Given the description of an element on the screen output the (x, y) to click on. 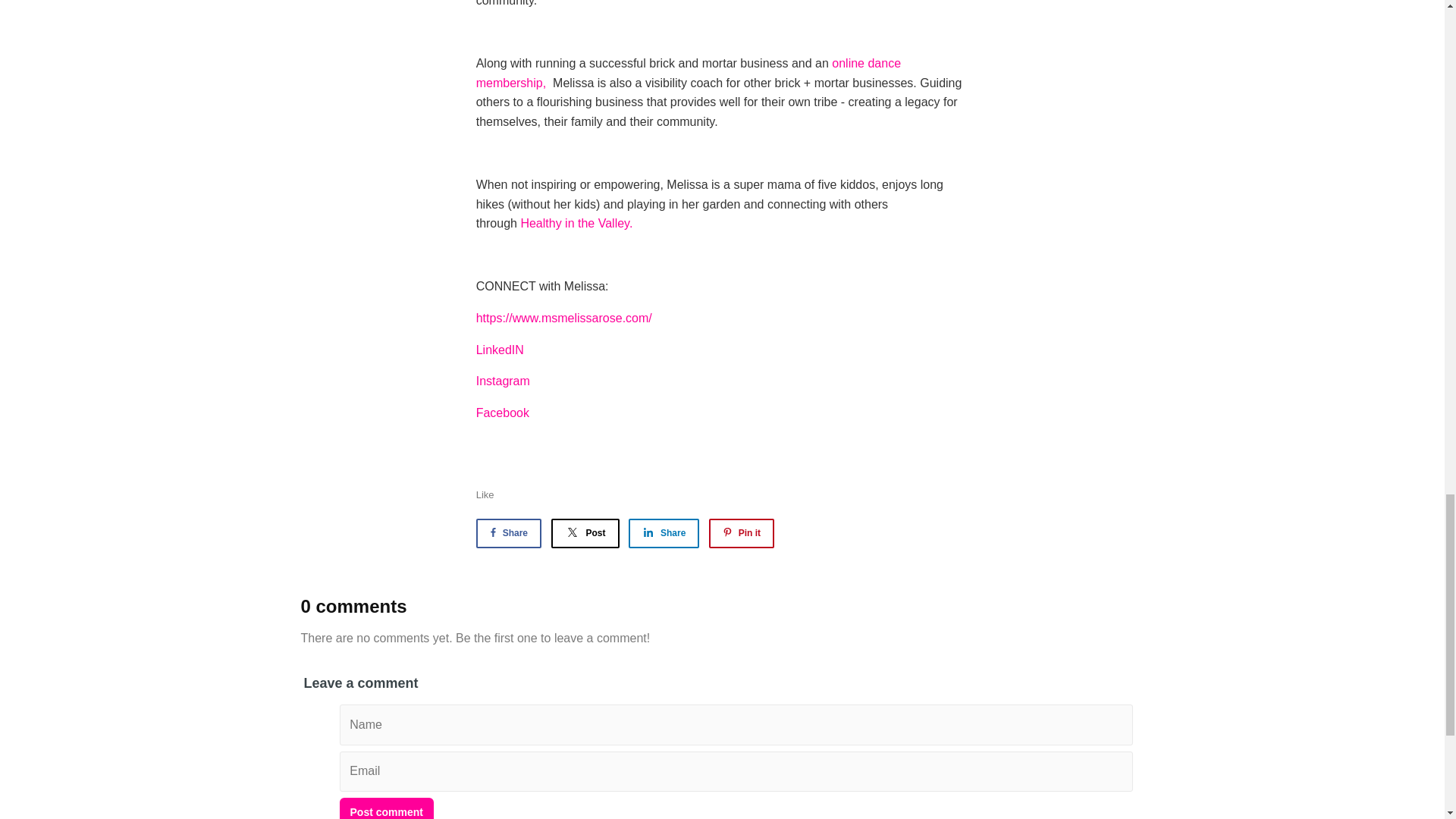
LinkedIN (500, 349)
Post comment (386, 808)
Share on Facebook (508, 532)
Pin on Pinterest (741, 532)
Share on LinkedIn (663, 532)
Healthy in the Valley.  (576, 223)
online dance membership, (688, 72)
Post on X (584, 532)
Instagram (502, 380)
